Given the description of an element on the screen output the (x, y) to click on. 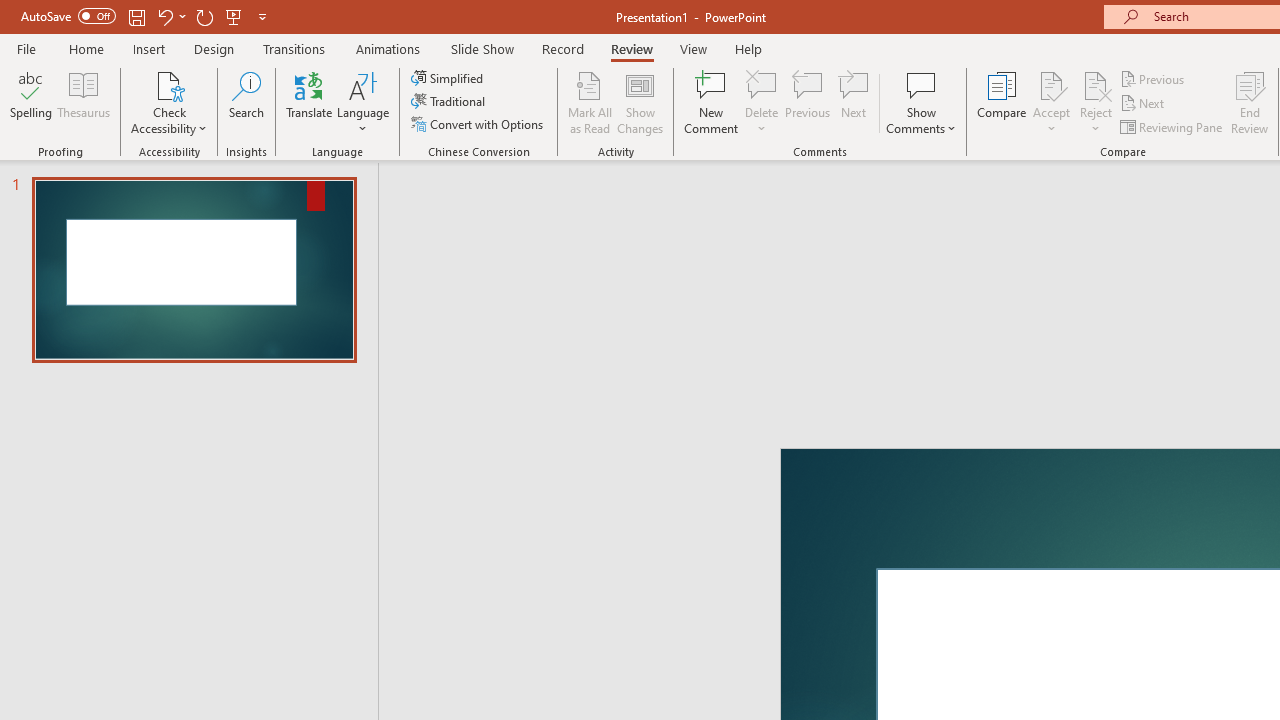
Search (246, 102)
Delete (762, 84)
Simplified (449, 78)
Reviewing Pane (1172, 126)
Check Accessibility (169, 102)
Show Comments (921, 102)
Traditional (449, 101)
Reject (1096, 102)
